Given the description of an element on the screen output the (x, y) to click on. 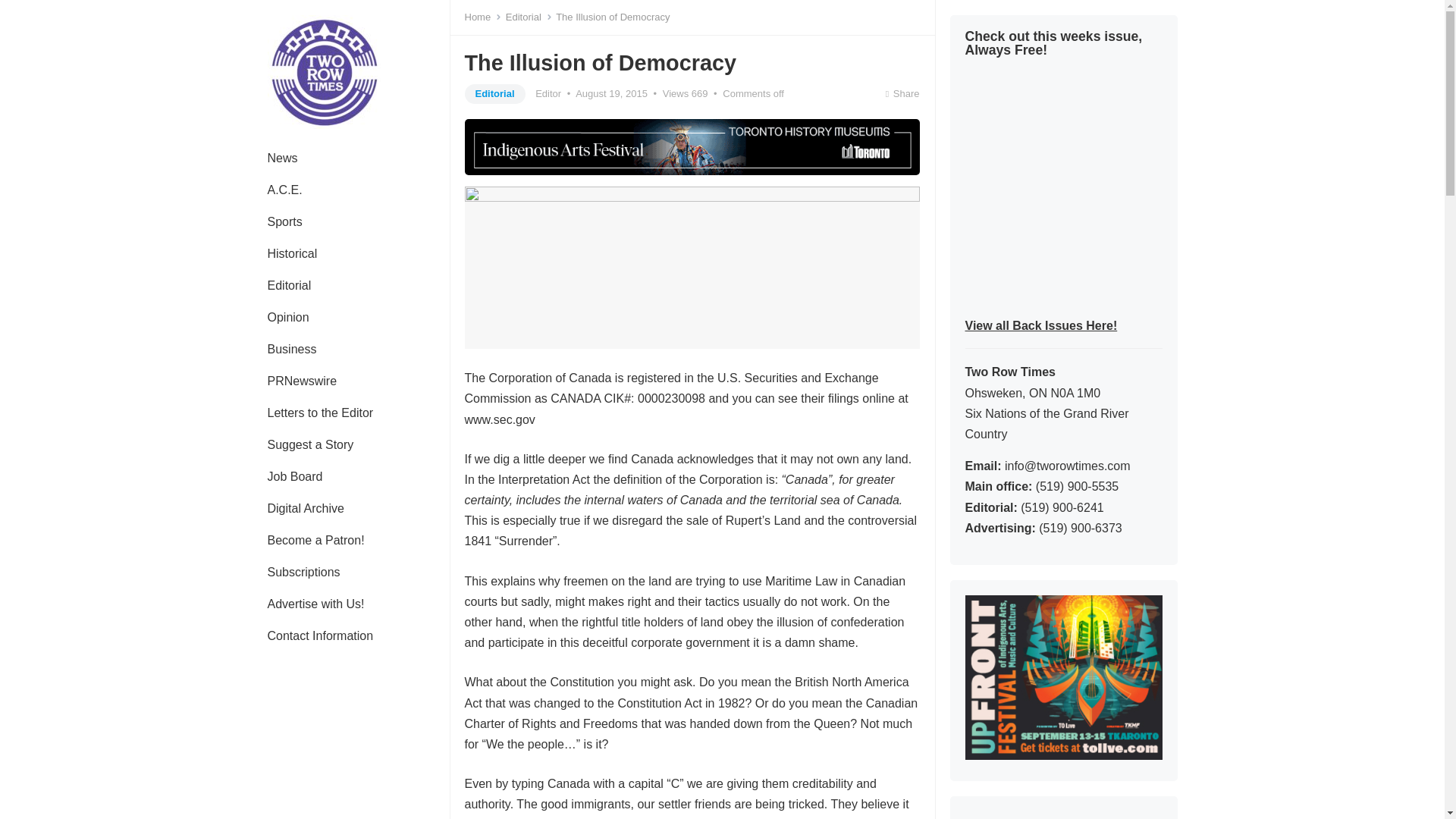
A.C.E. (284, 190)
Historical (291, 254)
News (282, 158)
Advertise with Us! (314, 603)
Sports (284, 222)
Become a Patron! (314, 540)
Job Board (294, 477)
Home (482, 16)
Suggest a Story (309, 445)
Contact Information (319, 635)
Business (291, 349)
Letters to the Editor (319, 413)
Subscriptions (303, 572)
Digital Archive (304, 508)
Posts by Editor (547, 93)
